Given the description of an element on the screen output the (x, y) to click on. 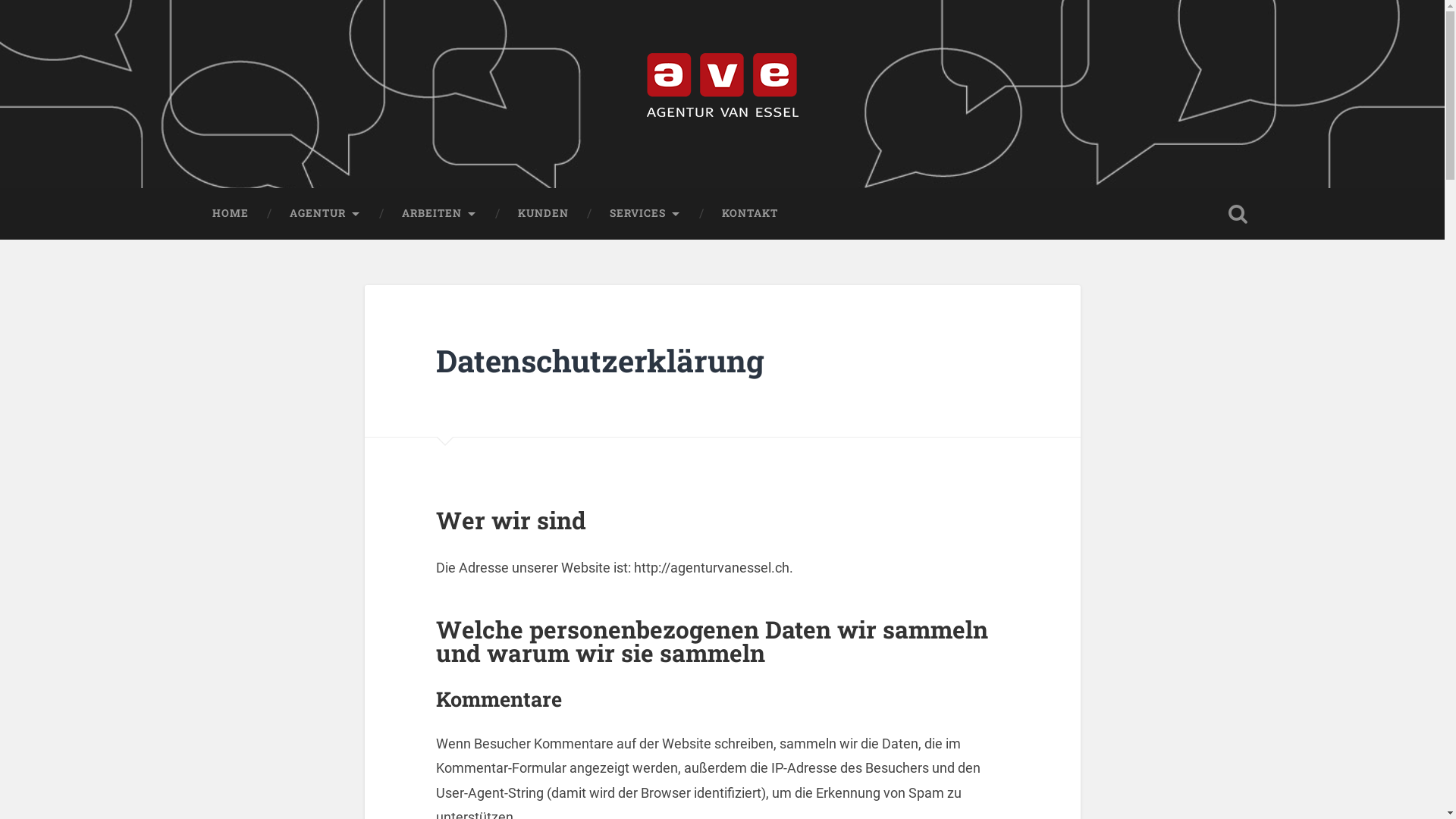
KUNDEN Element type: text (543, 213)
AGENTUR Element type: text (324, 213)
KONTAKT Element type: text (748, 213)
ARBEITEN Element type: text (438, 213)
Agentur van Essel Element type: text (311, 149)
HOME Element type: text (229, 213)
SERVICES Element type: text (644, 213)
